Given the description of an element on the screen output the (x, y) to click on. 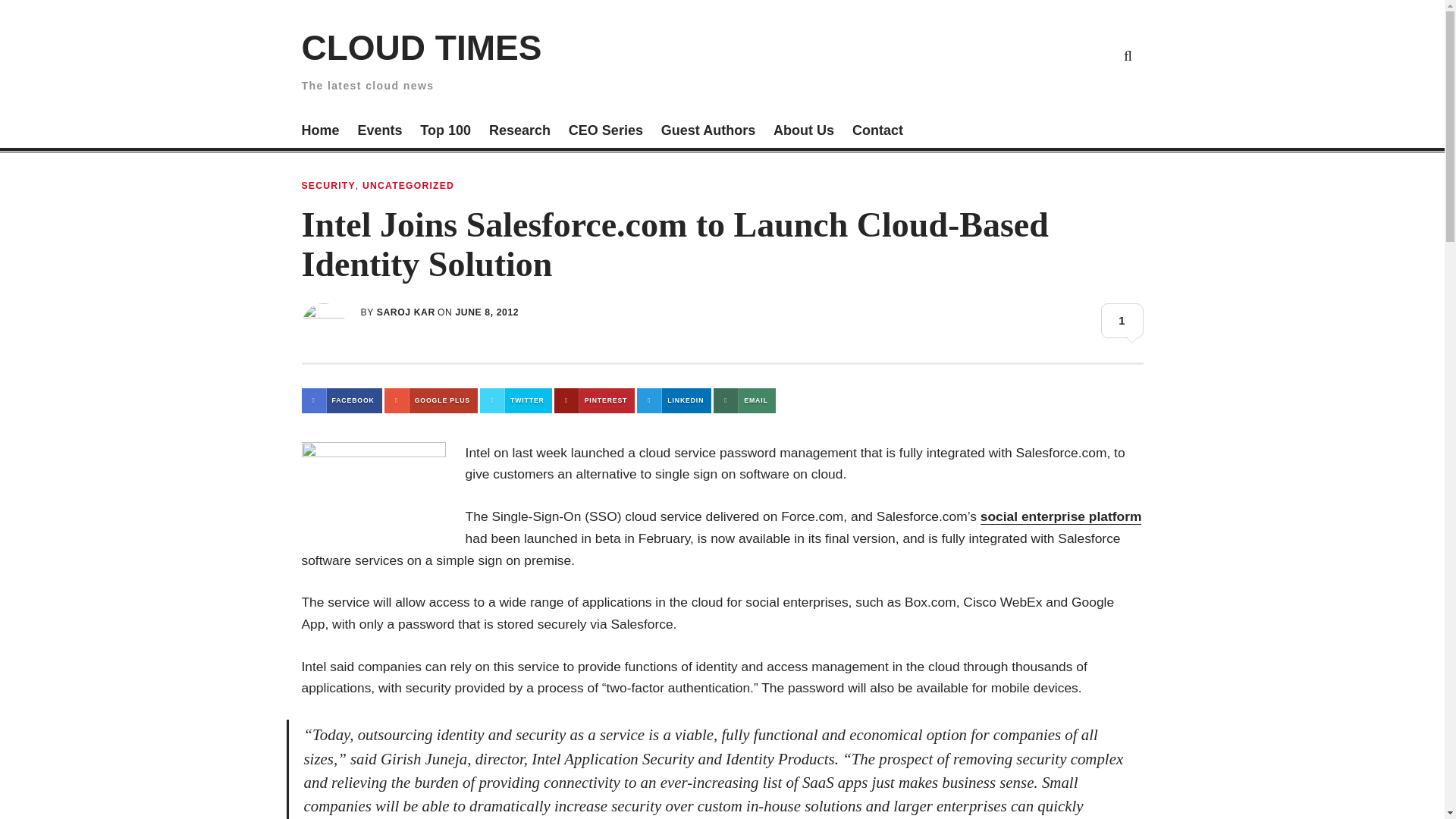
SECURITY (328, 185)
Google (986, 54)
CEO Series (606, 132)
Cloud Security (1056, 54)
Research (519, 132)
TWITTER (515, 400)
EMAIL (743, 400)
Cloud Storage (951, 54)
GOOGLE PLUS (430, 400)
LINKEDIN (674, 400)
